Given the description of an element on the screen output the (x, y) to click on. 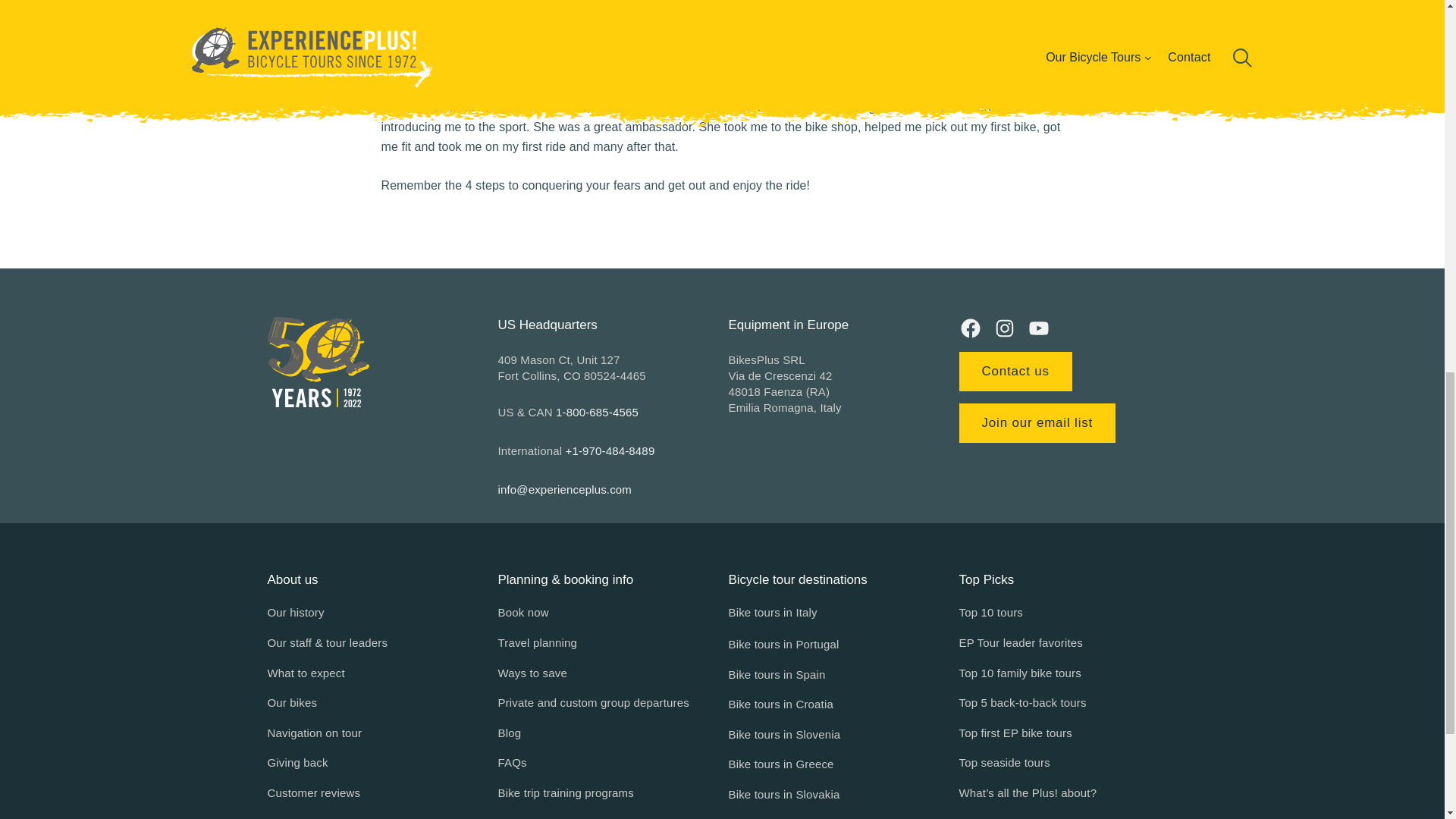
Join our email list (1036, 423)
YouTube (1037, 327)
Facebook (969, 327)
Customer reviews (312, 792)
Book now (522, 612)
Contact us (1014, 371)
Ways to save (531, 673)
What to expect (304, 673)
Instagram (1004, 327)
Giving back (296, 762)
